Given the description of an element on the screen output the (x, y) to click on. 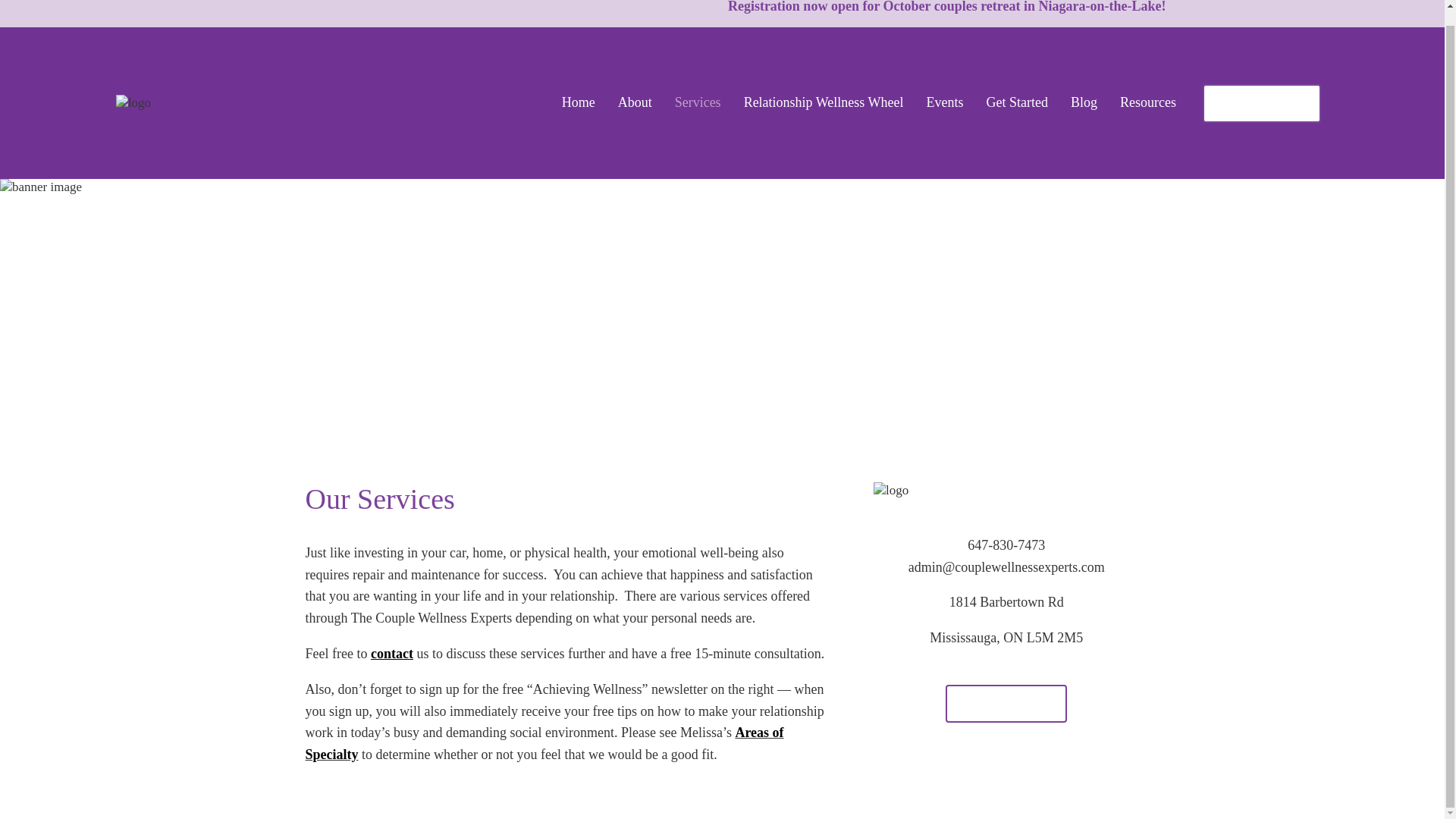
Resources (1147, 103)
Home (578, 103)
Get Started (1015, 103)
Book Now (1261, 102)
Events (944, 103)
Services (697, 103)
About (634, 103)
Blog (1083, 103)
Relationship Wellness Wheel (824, 103)
